Given the description of an element on the screen output the (x, y) to click on. 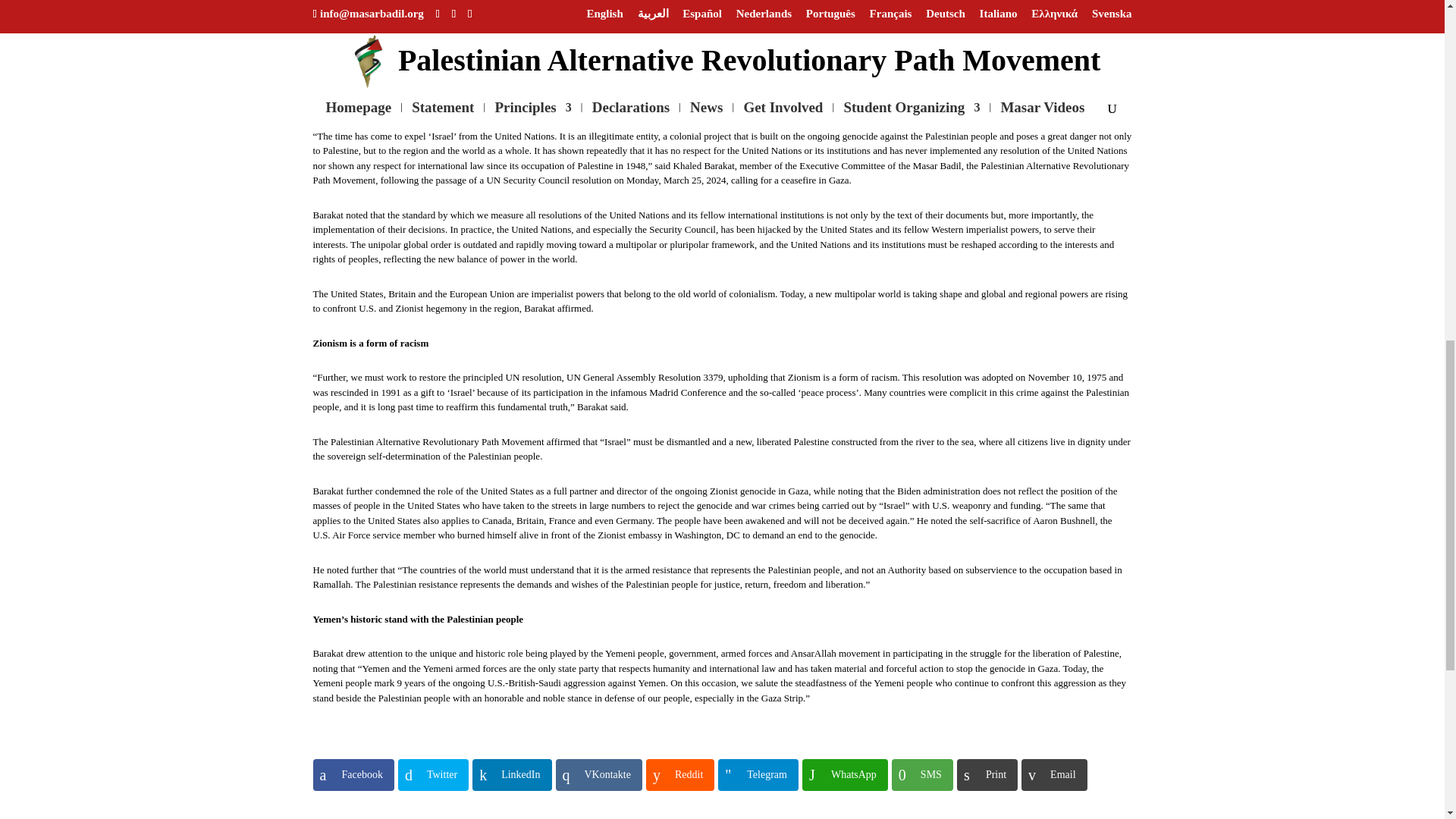
Share on Facebook (353, 775)
Share on Telegram (757, 775)
Share on SMS (922, 775)
Share on LinkedIn (511, 775)
Share on VKontakte (598, 775)
Share on Print (986, 775)
Share on Email (1054, 775)
Share on WhatsApp (845, 775)
Share on Twitter (432, 775)
Share on Reddit (680, 775)
